Given the description of an element on the screen output the (x, y) to click on. 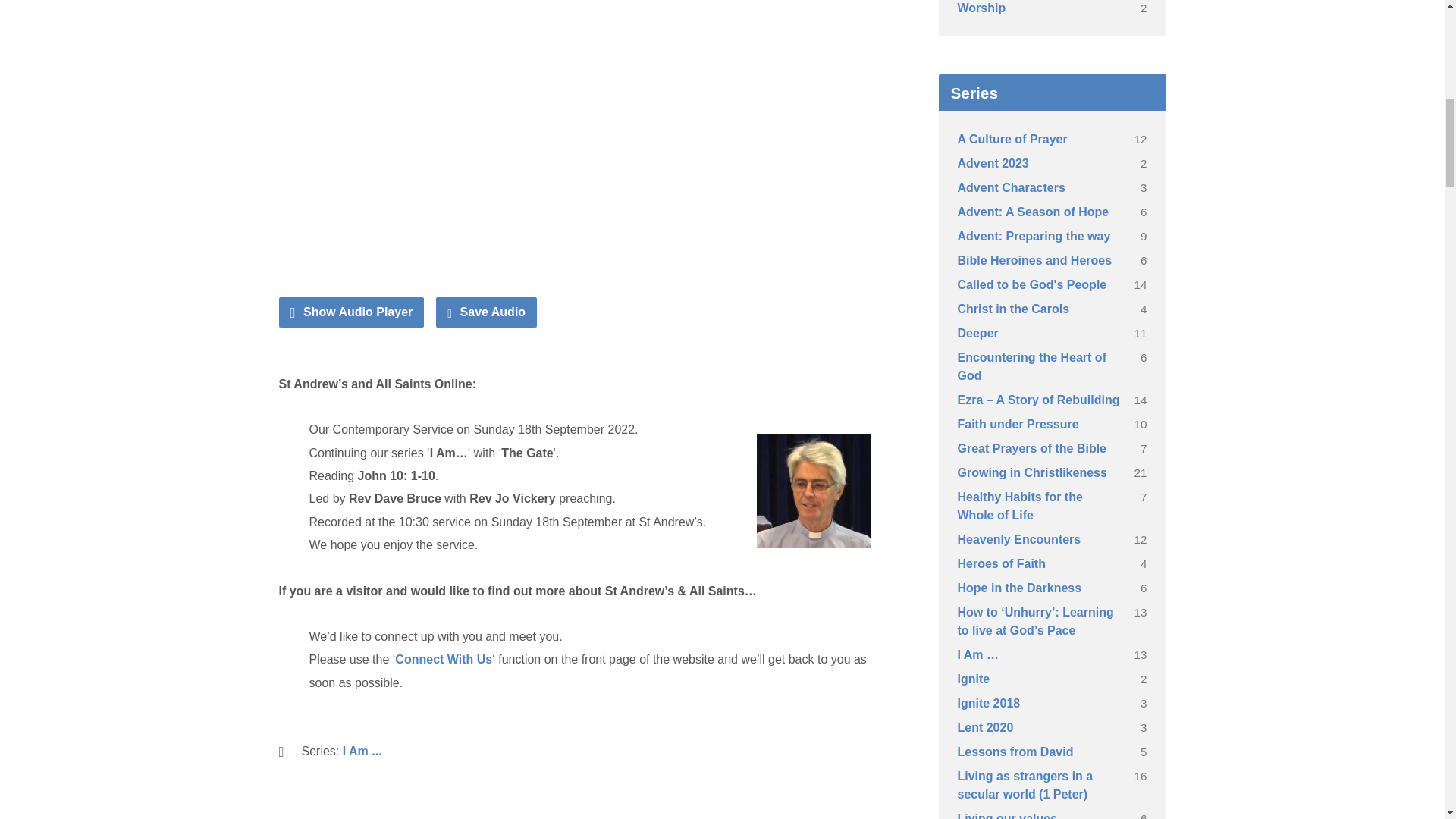
Download Audio (486, 312)
